Given the description of an element on the screen output the (x, y) to click on. 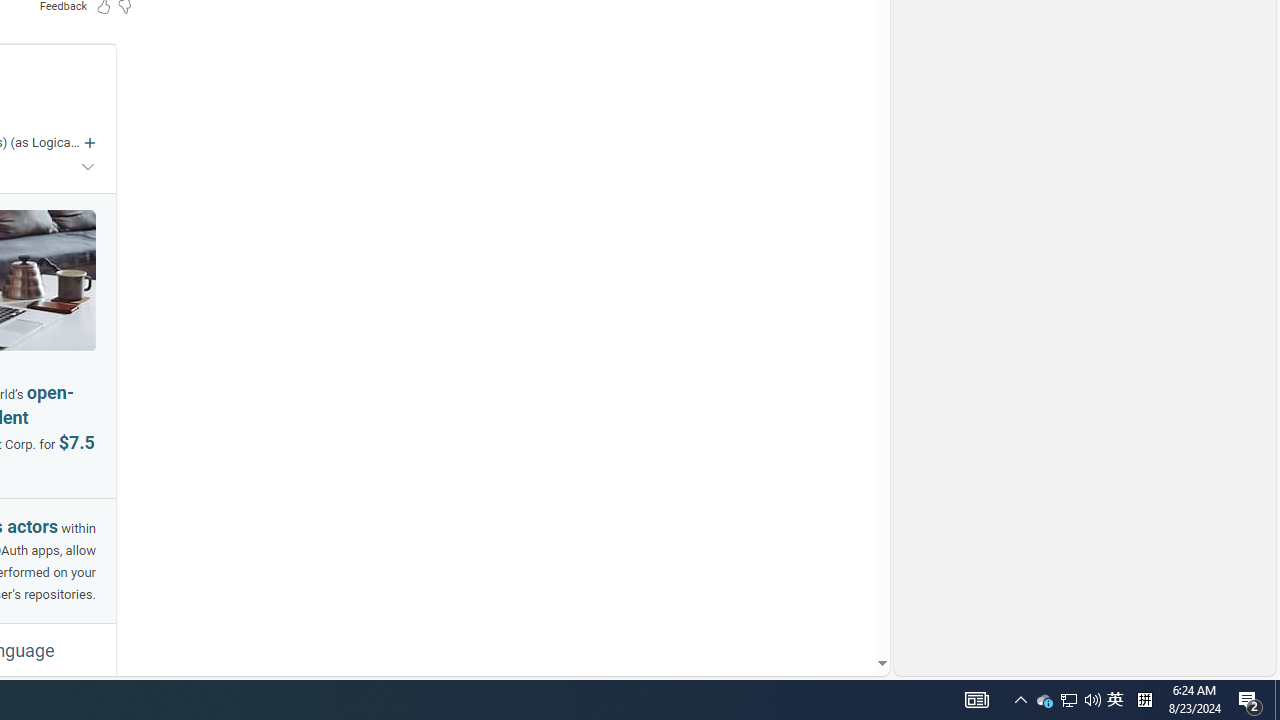
AutomationID: mfa_root (806, 603)
Search more (836, 604)
